Given the description of an element on the screen output the (x, y) to click on. 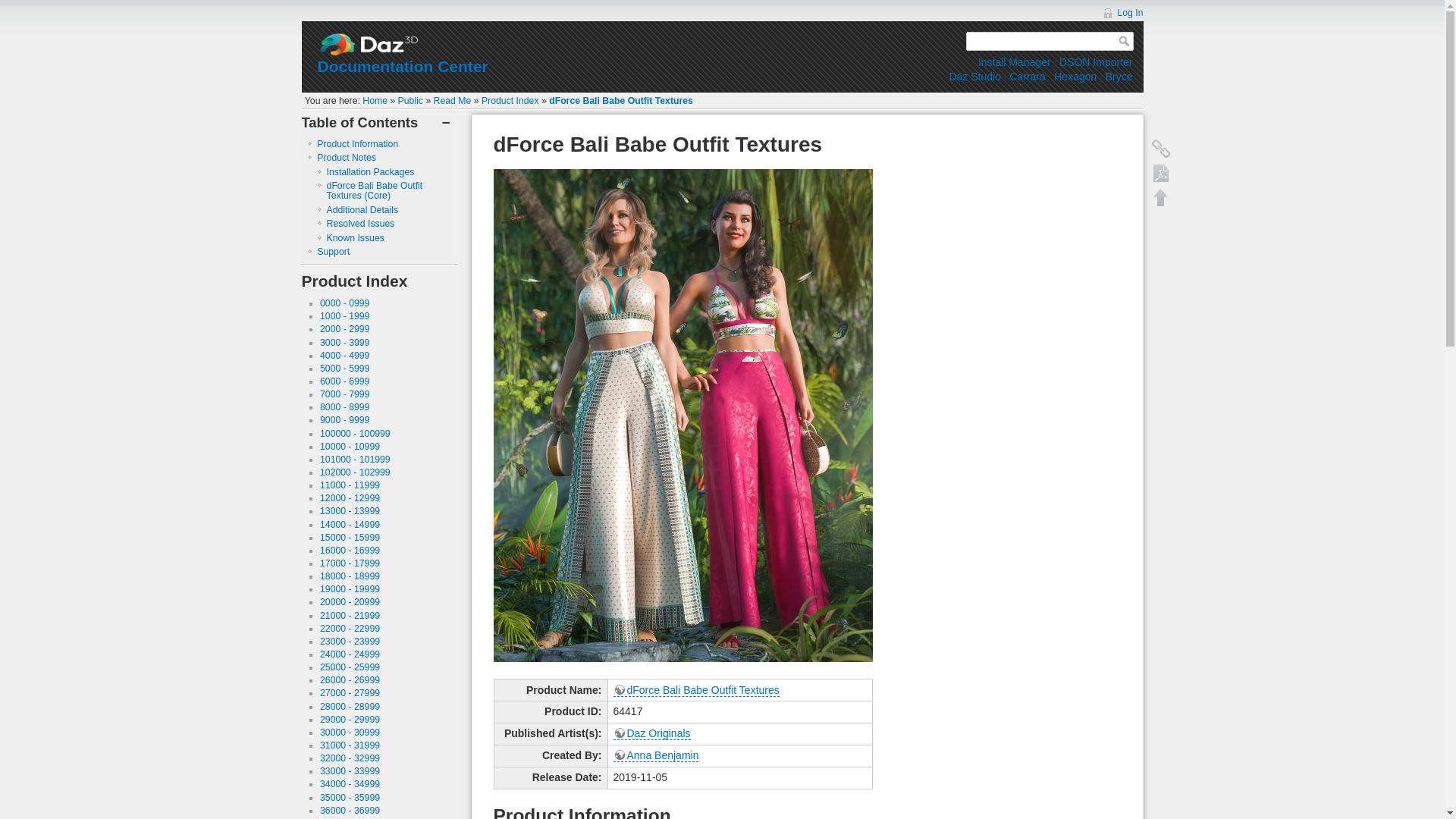
Read Me (452, 100)
public:software:bryce:start (1118, 76)
Product Information (357, 143)
7000 - 7999 (344, 394)
Log In (1122, 12)
Search (1125, 40)
Daz Studio (974, 76)
Installation Packages (370, 172)
Additional Details (362, 209)
Product Notes (346, 157)
Known Issues (355, 236)
Home (374, 100)
DSON Importer (1095, 61)
1000 - 1999 (344, 316)
public:software:dazstudio:start (974, 76)
